Given the description of an element on the screen output the (x, y) to click on. 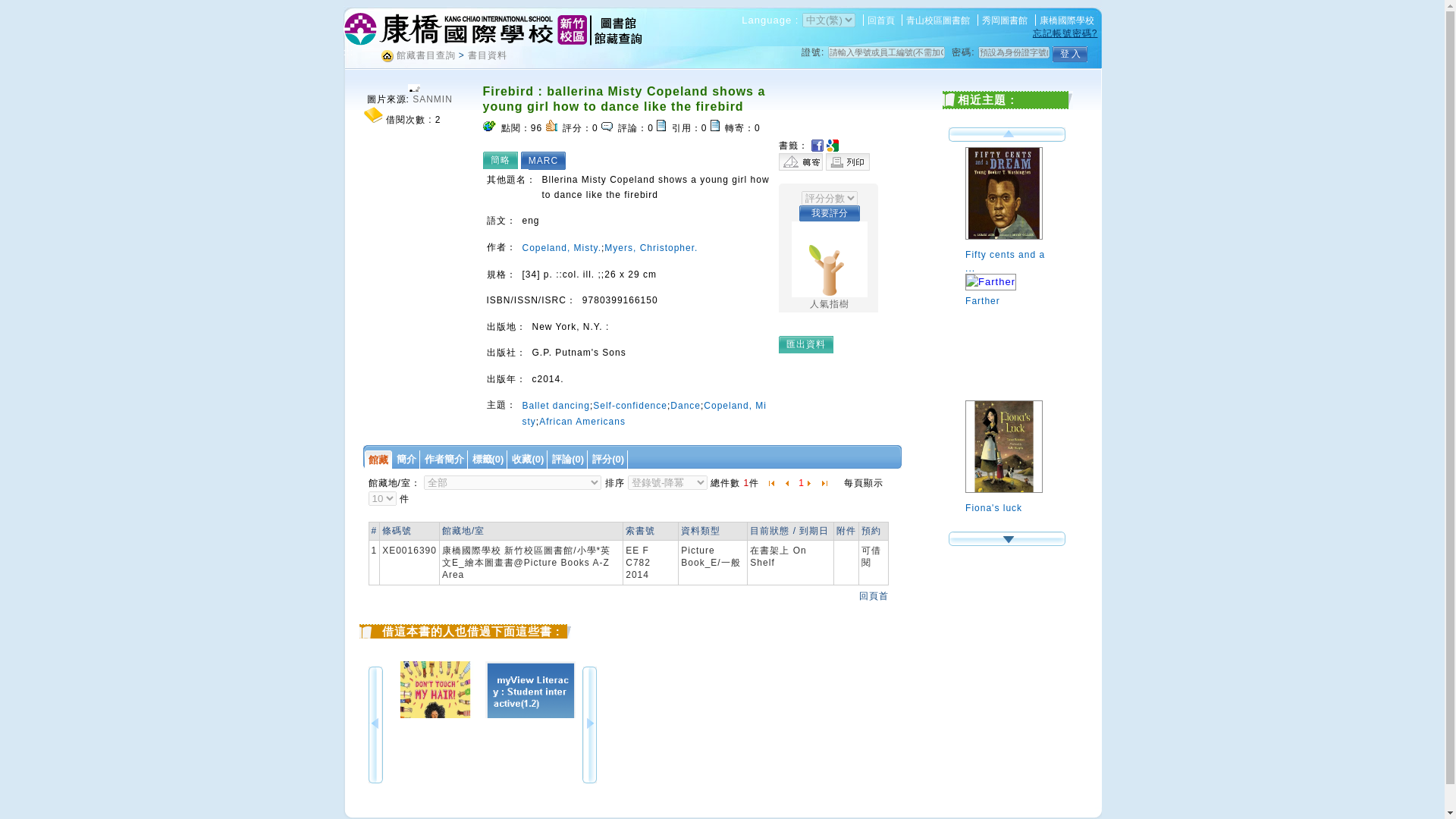
1 (801, 482)
Dance (684, 405)
Myers, Christopher. (650, 247)
African Americans (582, 421)
MARC (547, 159)
Copeland, Misty (644, 413)
Copeland, Misty. (560, 247)
Ballet dancing (555, 405)
::: (347, 51)
Farther (1011, 291)
SANMIN (432, 99)
Self-confidence (629, 405)
MARC (547, 159)
Fiona's luck (1011, 499)
Fifty cents and a ... (1011, 252)
